Given the description of an element on the screen output the (x, y) to click on. 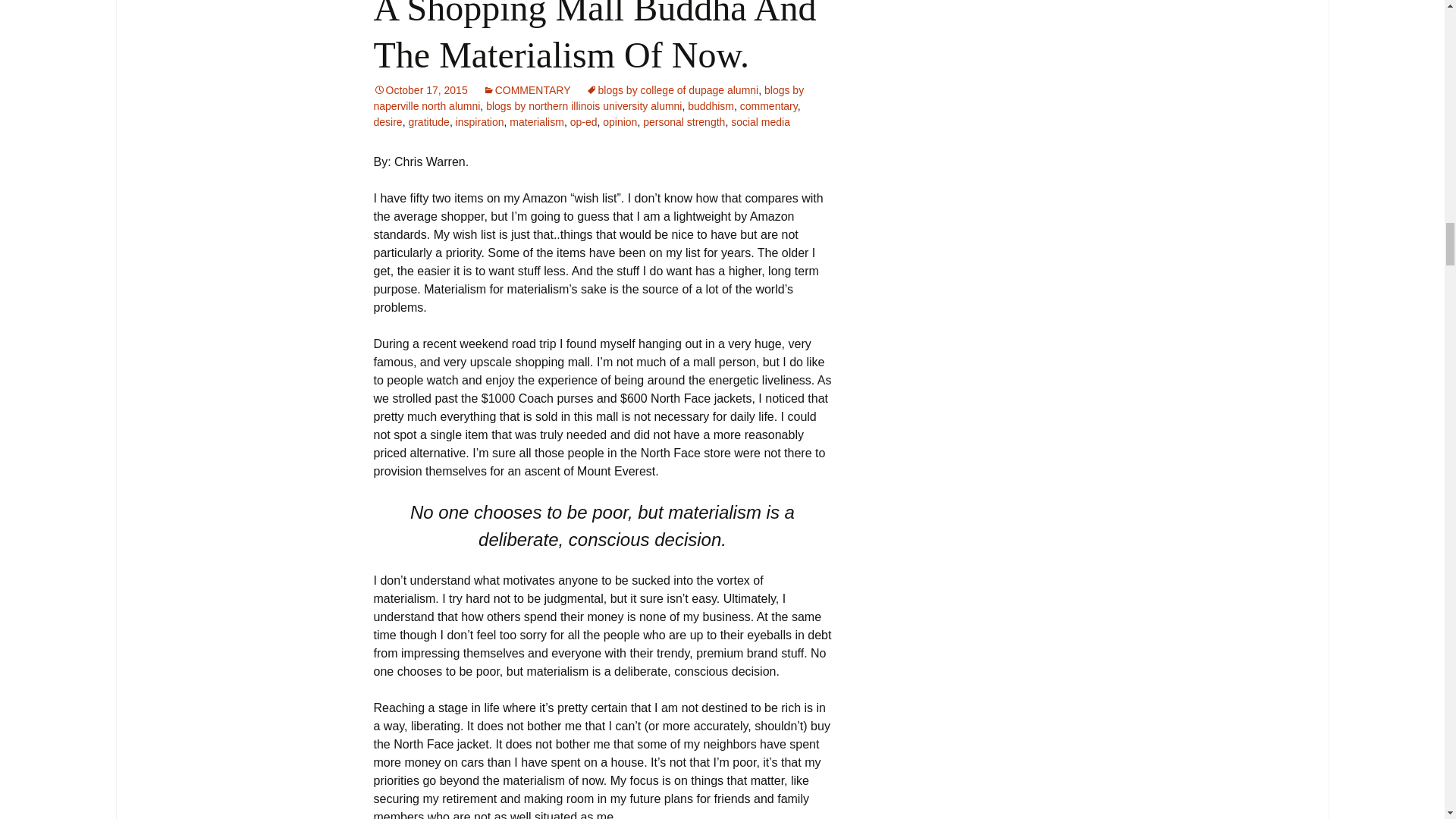
A Shopping Mall Buddha And The Materialism Of Now. (593, 37)
COMMENTARY (526, 90)
October 17, 2015 (419, 90)
